Given the description of an element on the screen output the (x, y) to click on. 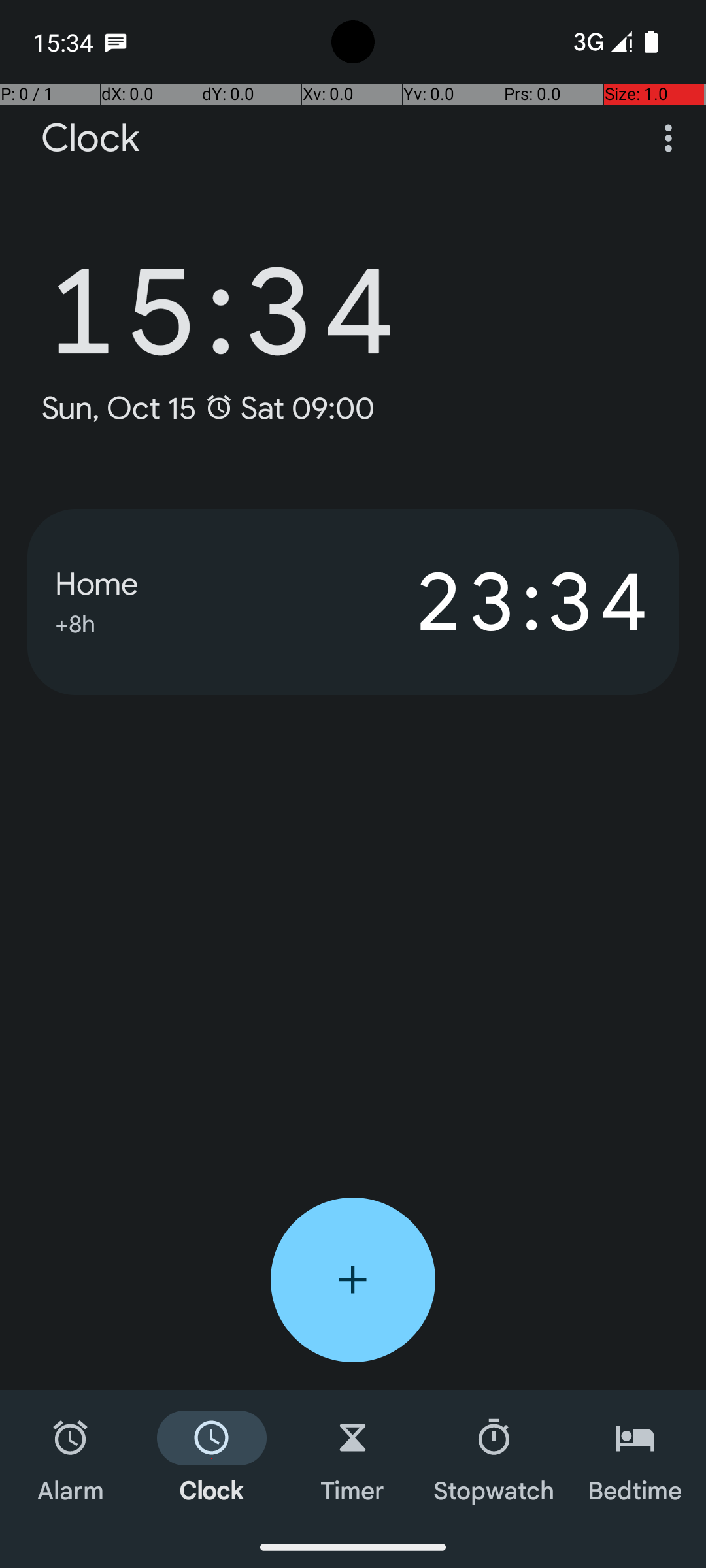
Sun, Oct 15 A Sat 09:00 Element type: android.widget.TextView (207, 407)
